Given the description of an element on the screen output the (x, y) to click on. 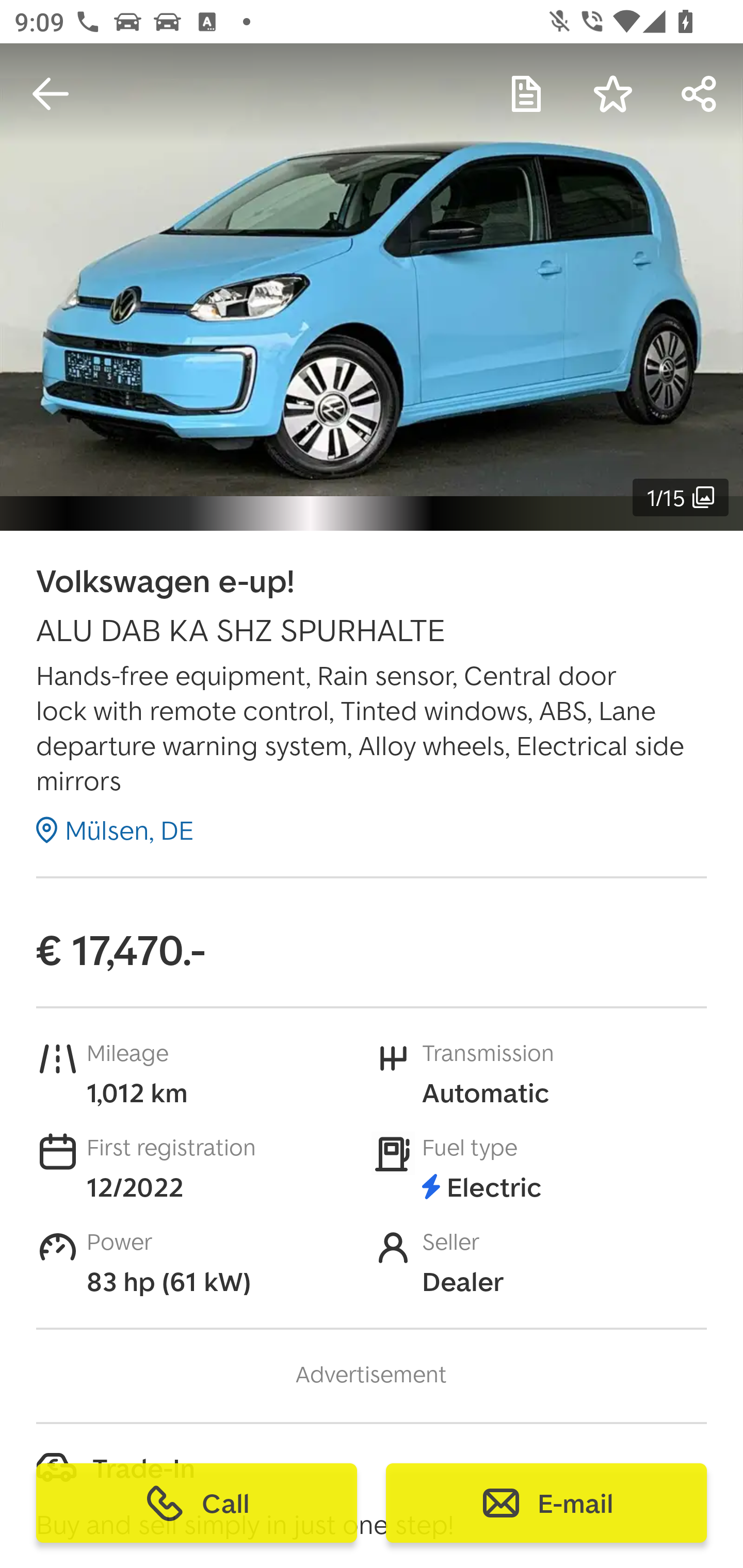
Navigate up (50, 93)
My Notes (525, 93)
Save (612, 93)
Forward (699, 93)
Mülsen, DE (114, 829)
Call (196, 1502)
E-mail (545, 1502)
